Given the description of an element on the screen output the (x, y) to click on. 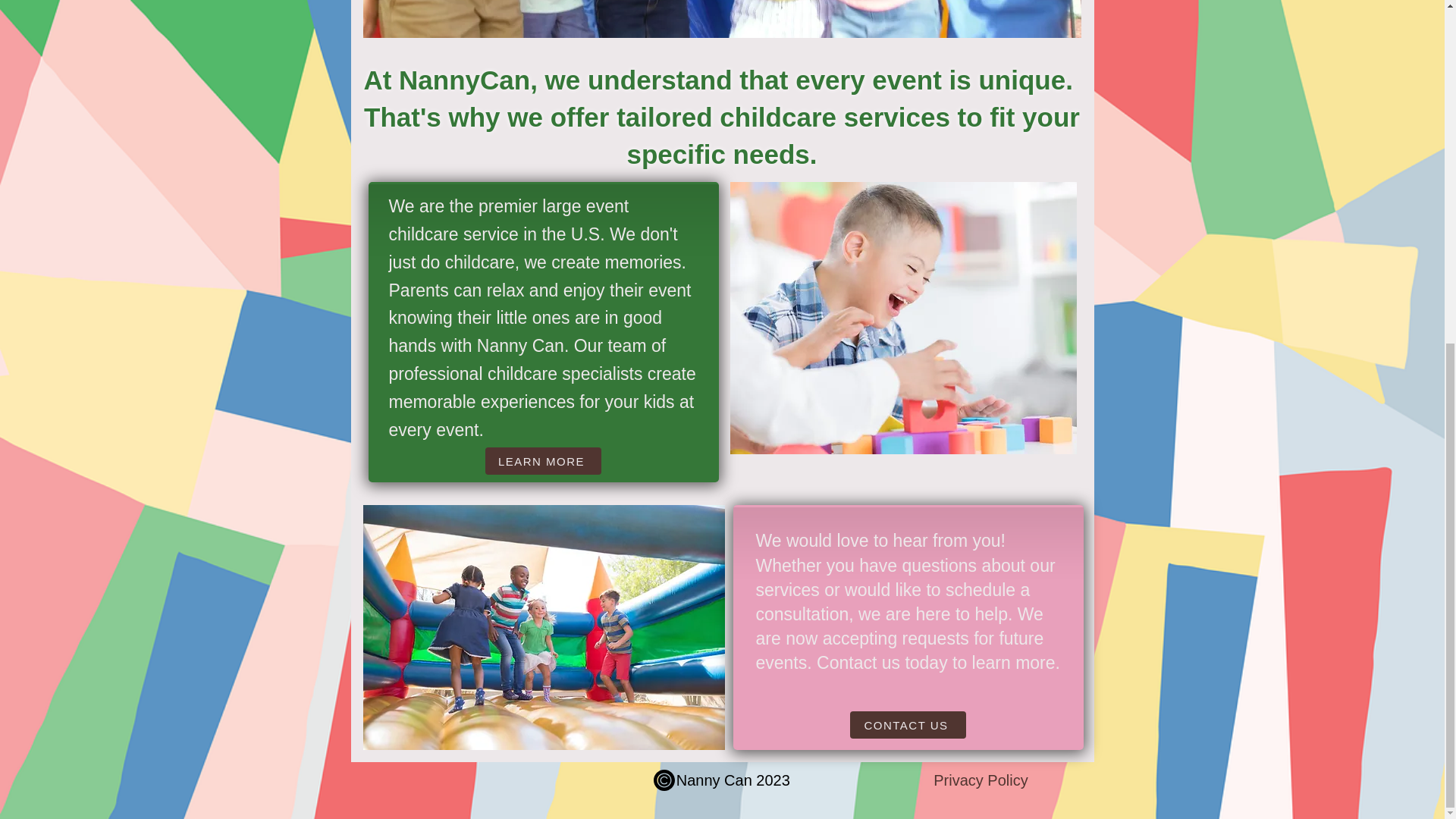
LEARN MORE (542, 461)
Privacy Policy (980, 780)
CONTACT US (906, 724)
Boy Playing with Blocks (902, 317)
